Given the description of an element on the screen output the (x, y) to click on. 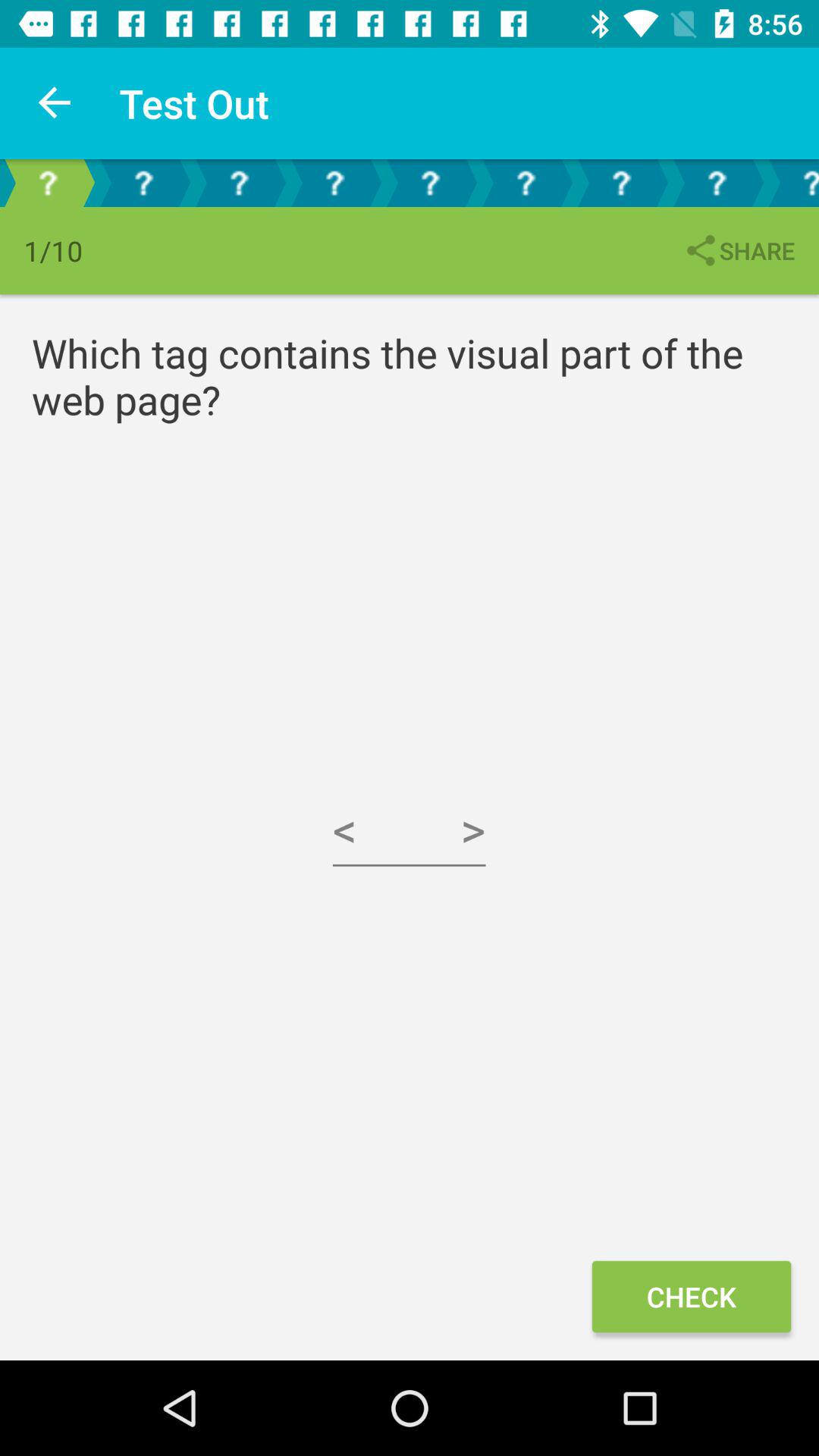
click on the 4 page arrow (334, 183)
